Given the description of an element on the screen output the (x, y) to click on. 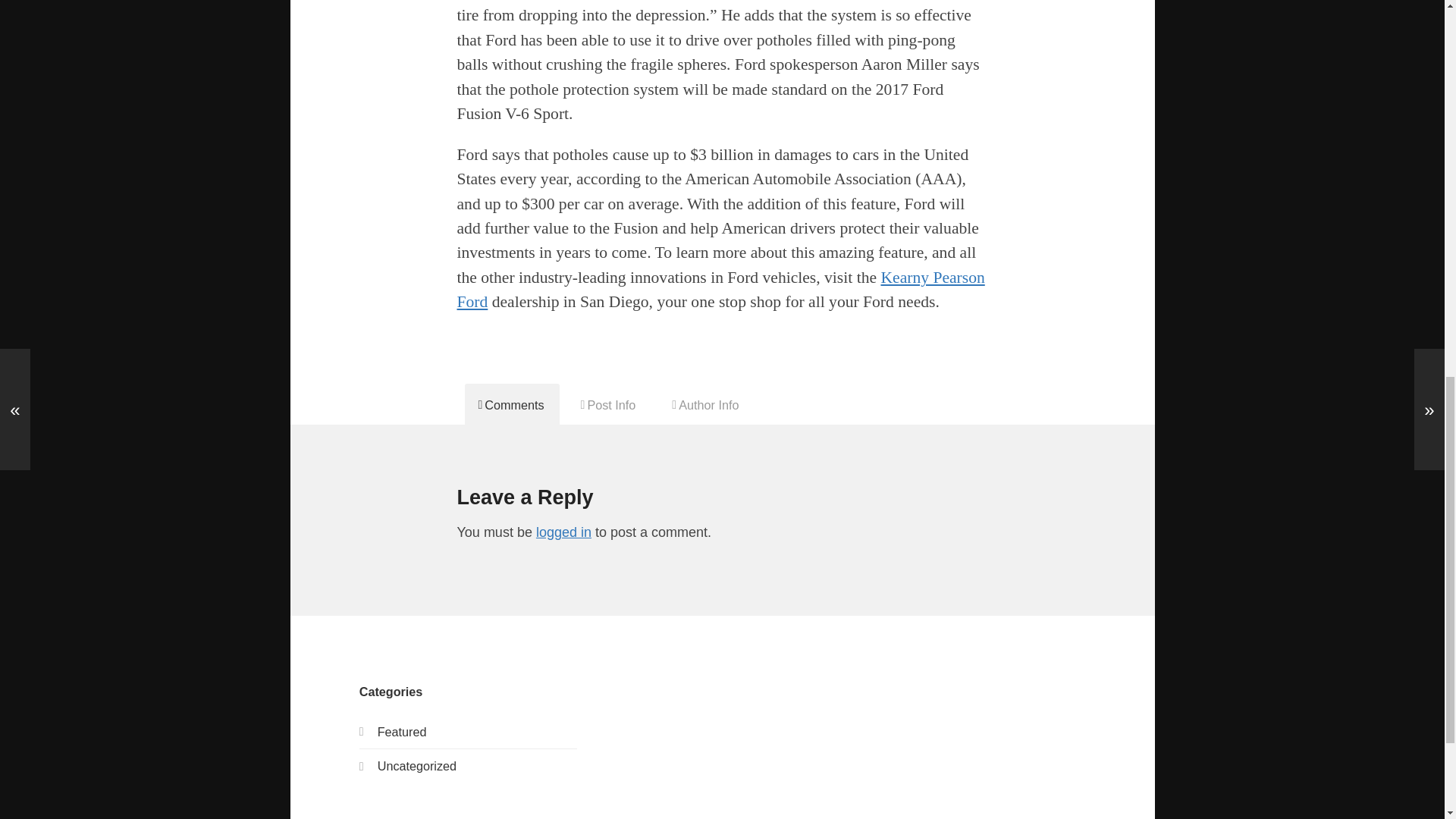
logged in (563, 531)
Post Info (608, 404)
Featured (401, 731)
Uncategorized (417, 766)
Comments (511, 404)
Kearny Pearson Ford (720, 289)
Author Info (706, 404)
